Given the description of an element on the screen output the (x, y) to click on. 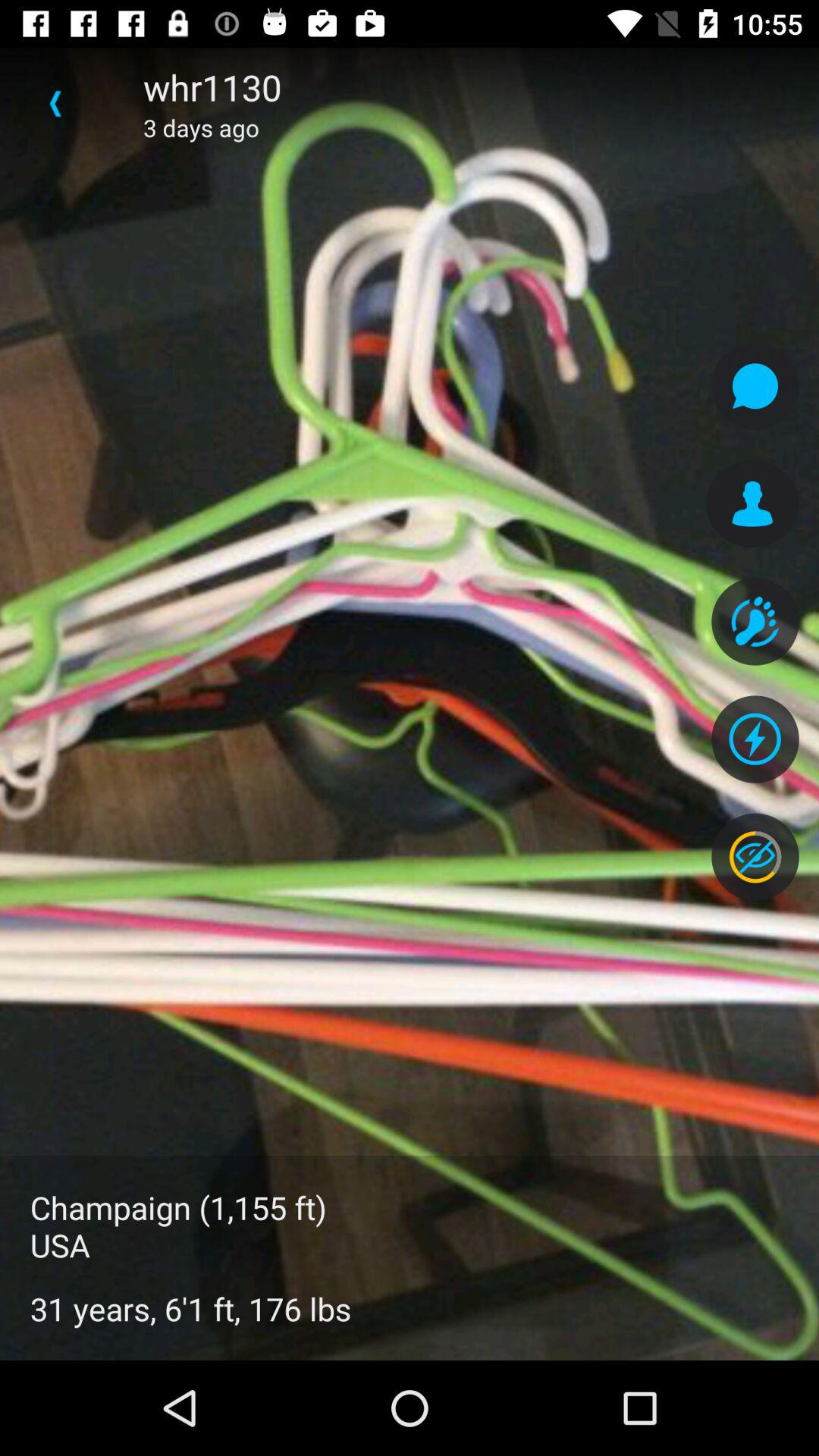
turn off icon to the left of the whr1130 icon (55, 103)
